Given the description of an element on the screen output the (x, y) to click on. 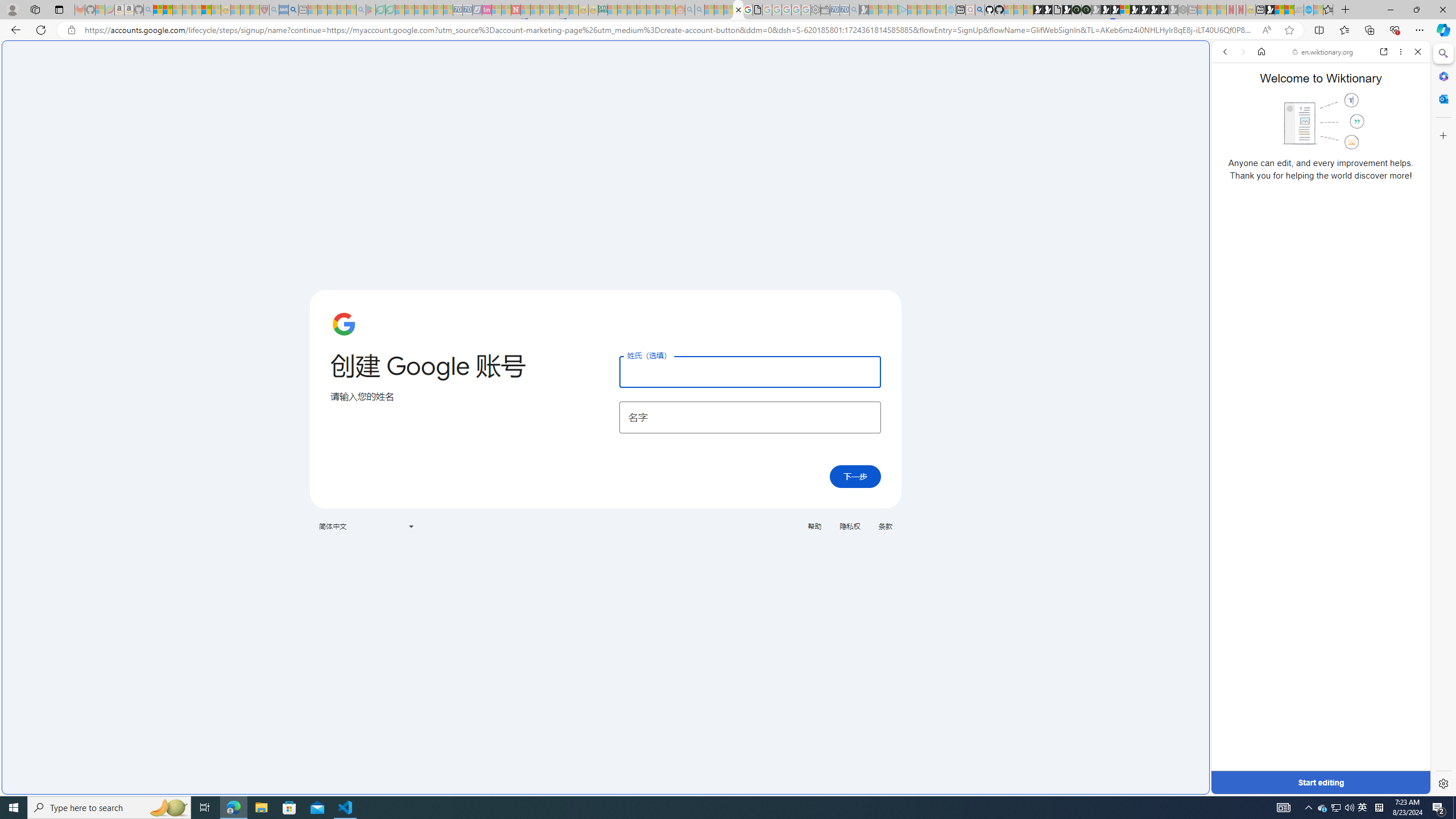
Tabs you've opened (885, 151)
